Given the description of an element on the screen output the (x, y) to click on. 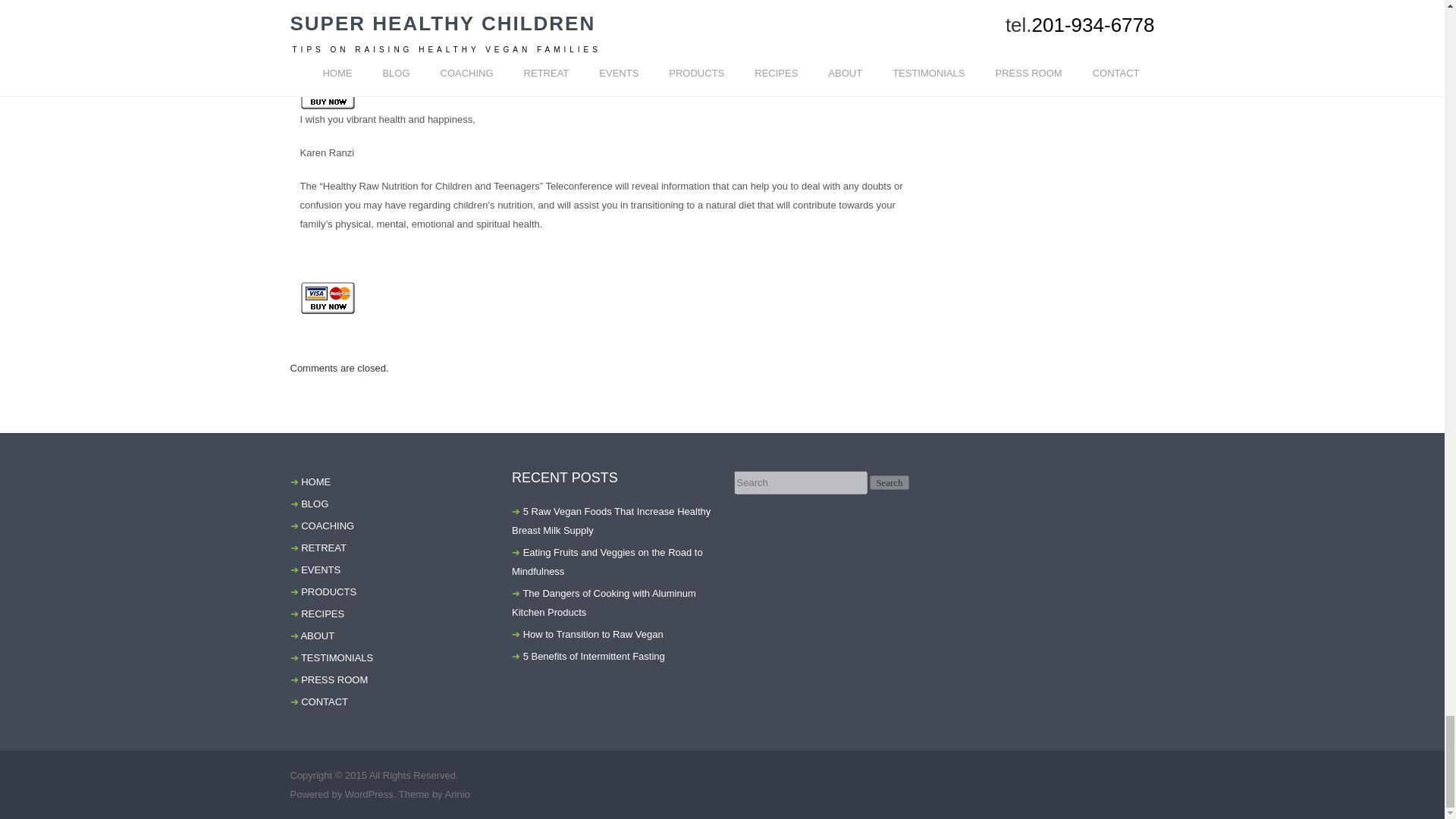
Search (888, 482)
Search (888, 482)
